Given the description of an element on the screen output the (x, y) to click on. 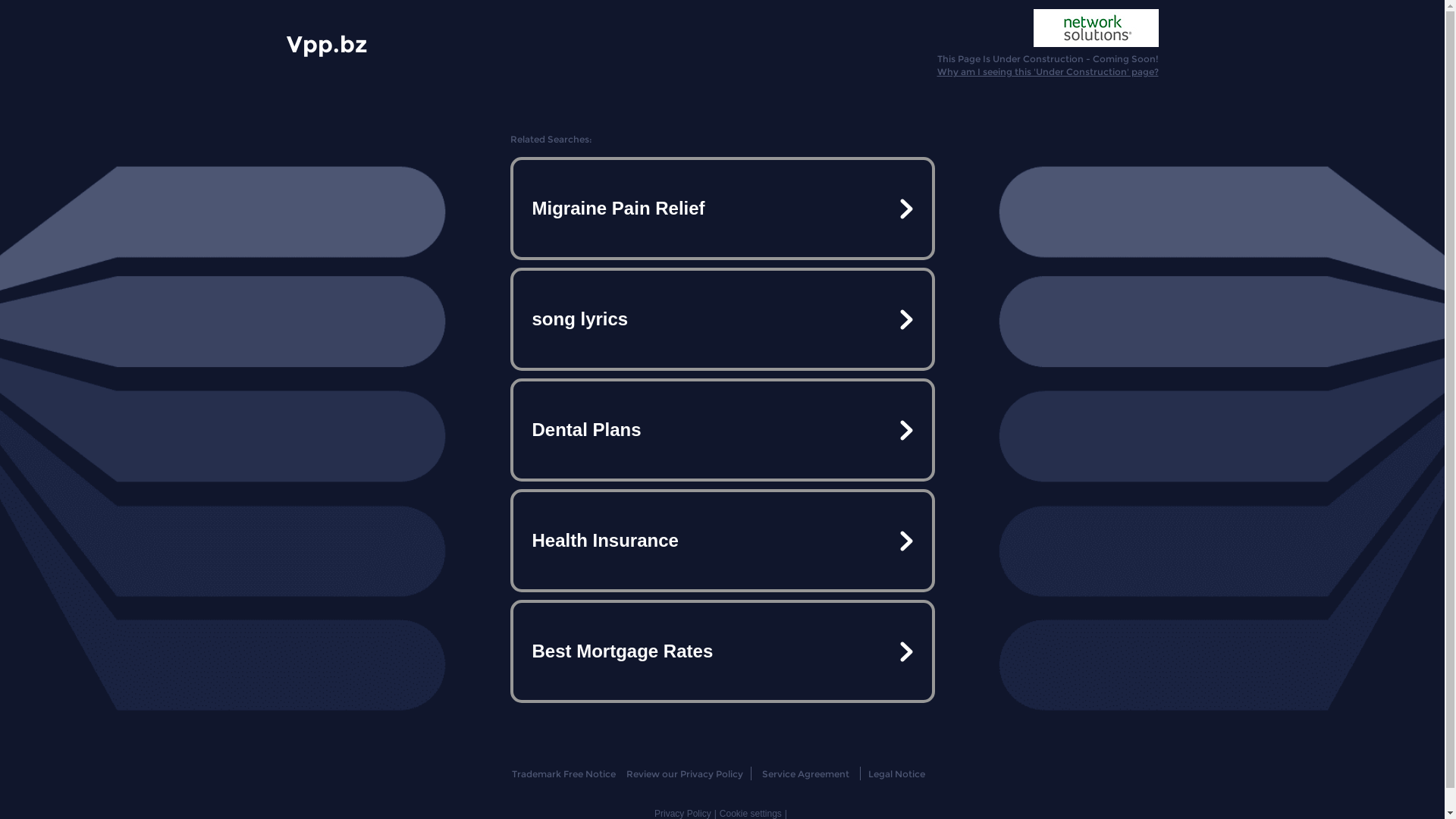
Migraine Pain Relief Element type: text (721, 208)
Service Agreement Element type: text (805, 773)
song lyrics Element type: text (721, 318)
Legal Notice Element type: text (896, 773)
Best Mortgage Rates Element type: text (721, 650)
Why am I seeing this 'Under Construction' page? Element type: text (1047, 71)
Trademark Free Notice Element type: text (563, 773)
Dental Plans Element type: text (721, 429)
Vpp.bz Element type: text (326, 43)
Health Insurance Element type: text (721, 540)
Review our Privacy Policy Element type: text (684, 773)
